Given the description of an element on the screen output the (x, y) to click on. 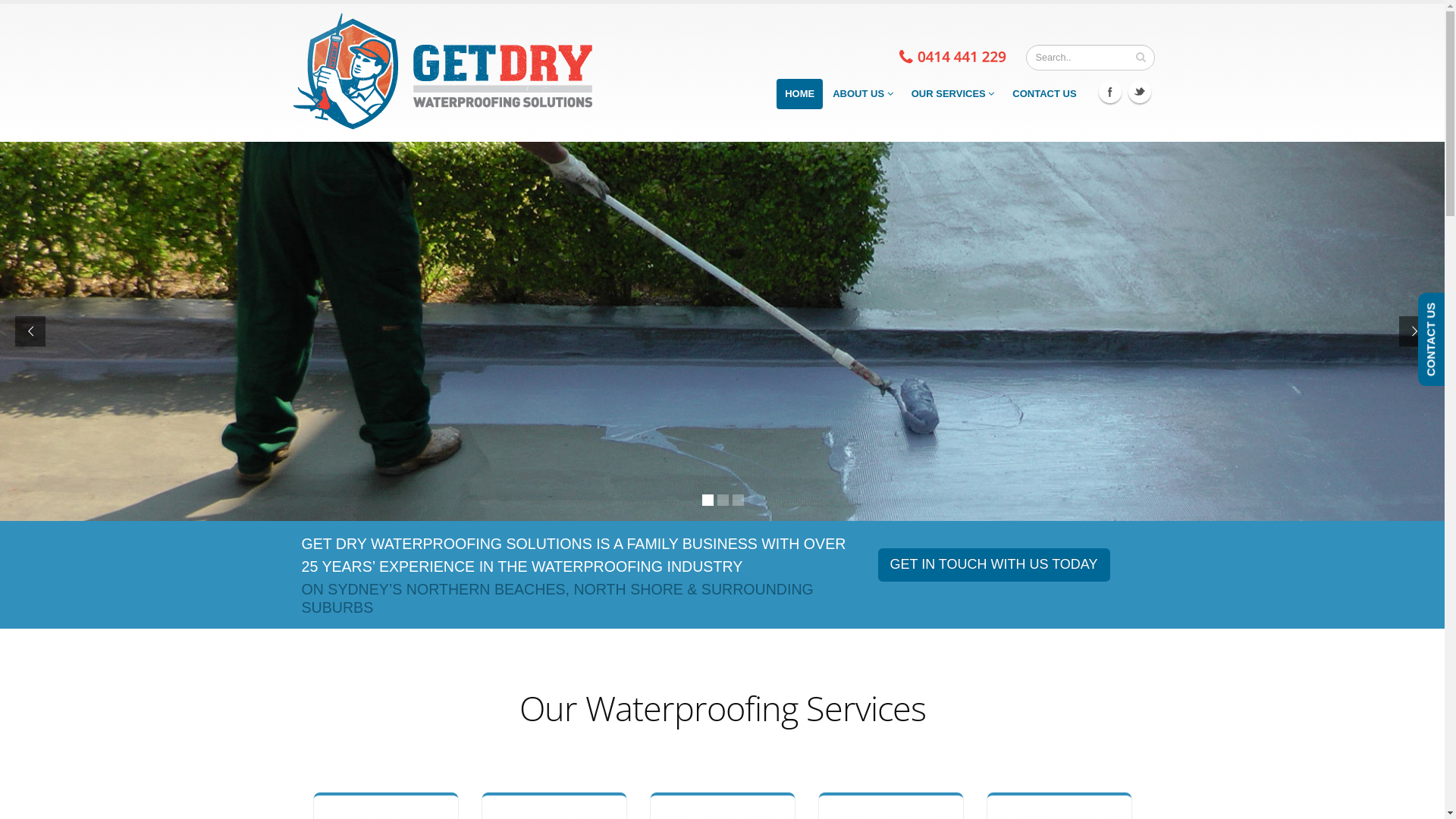
Twitter Element type: text (1139, 91)
ABOUT US Element type: text (862, 93)
Facebook Element type: text (1109, 91)
GET IN TOUCH WITH US TODAY Element type: text (994, 564)
CONTACT US Element type: text (1044, 93)
OUR SERVICES Element type: text (953, 93)
HOME Element type: text (799, 93)
